Given the description of an element on the screen output the (x, y) to click on. 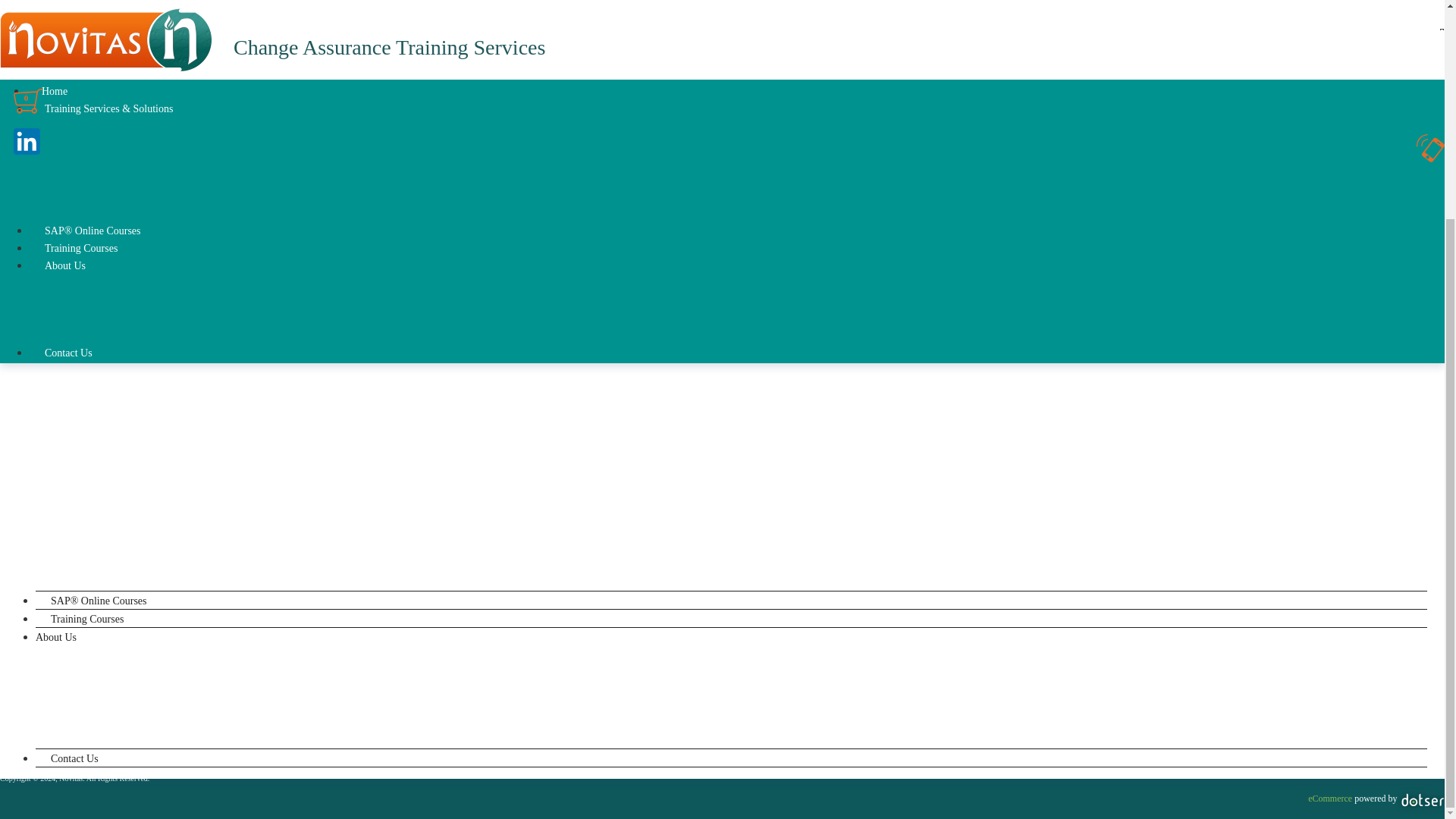
Contact Us (68, 63)
